Given the description of an element on the screen output the (x, y) to click on. 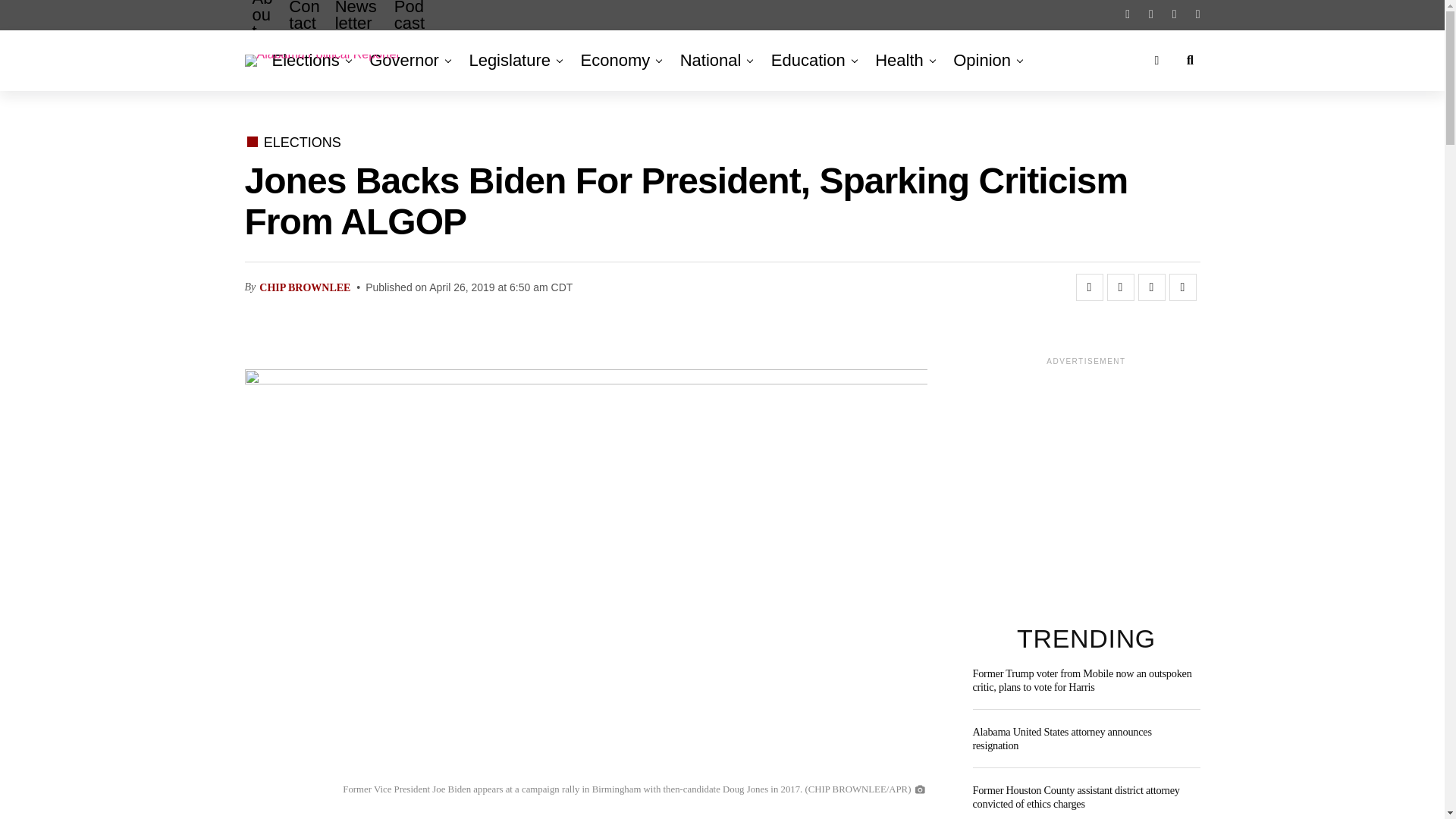
Share on Flipboard (1150, 287)
Governor (403, 60)
Newsletter (357, 27)
Posts by Chip Brownlee (304, 287)
Share on Facebook (1088, 287)
Tweet This Post (1120, 287)
Elections (308, 60)
